Given the description of an element on the screen output the (x, y) to click on. 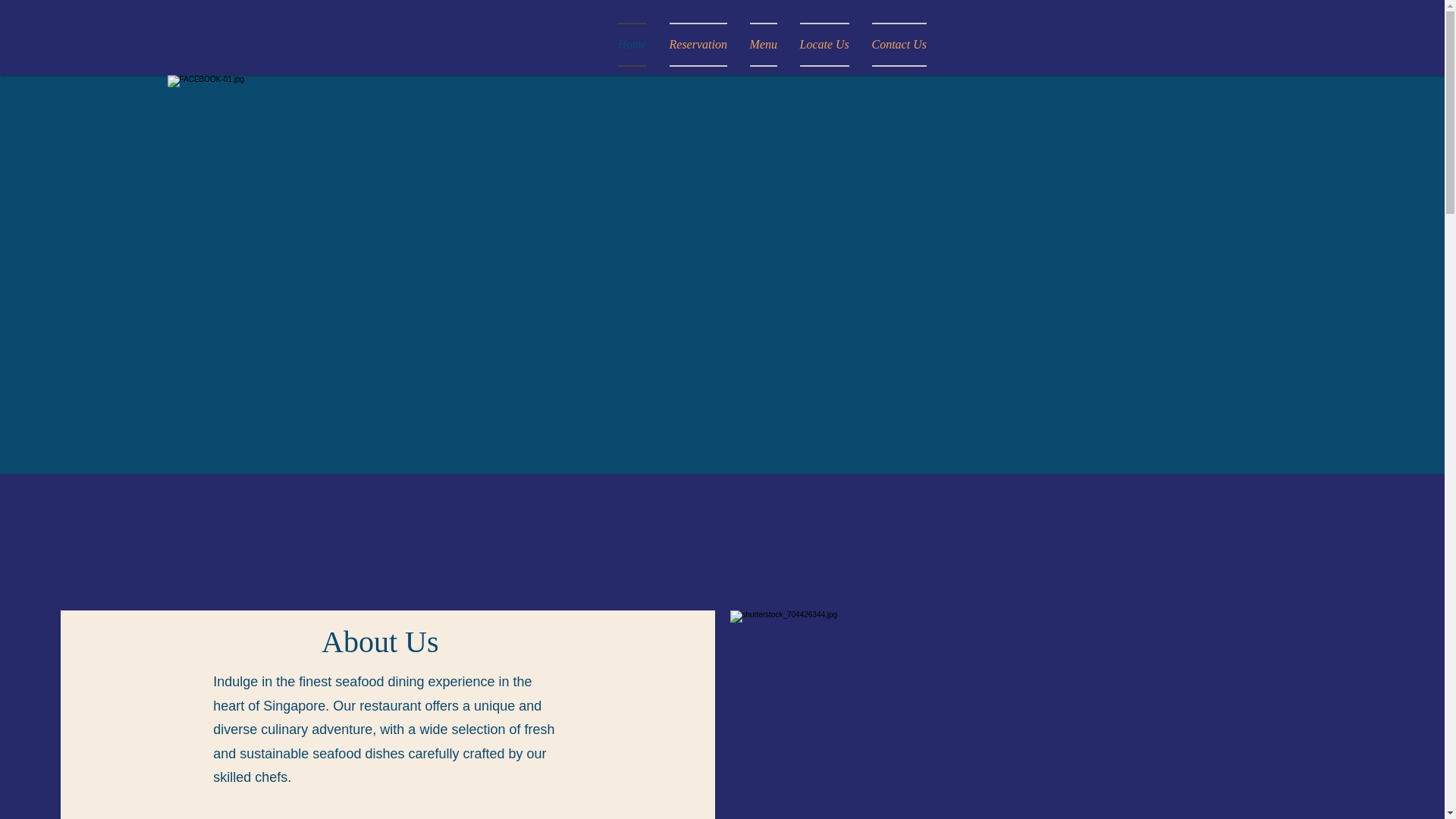
Locate Us (824, 44)
Home (632, 44)
Menu (763, 44)
Reservation (698, 44)
Contact Us (893, 44)
